Given the description of an element on the screen output the (x, y) to click on. 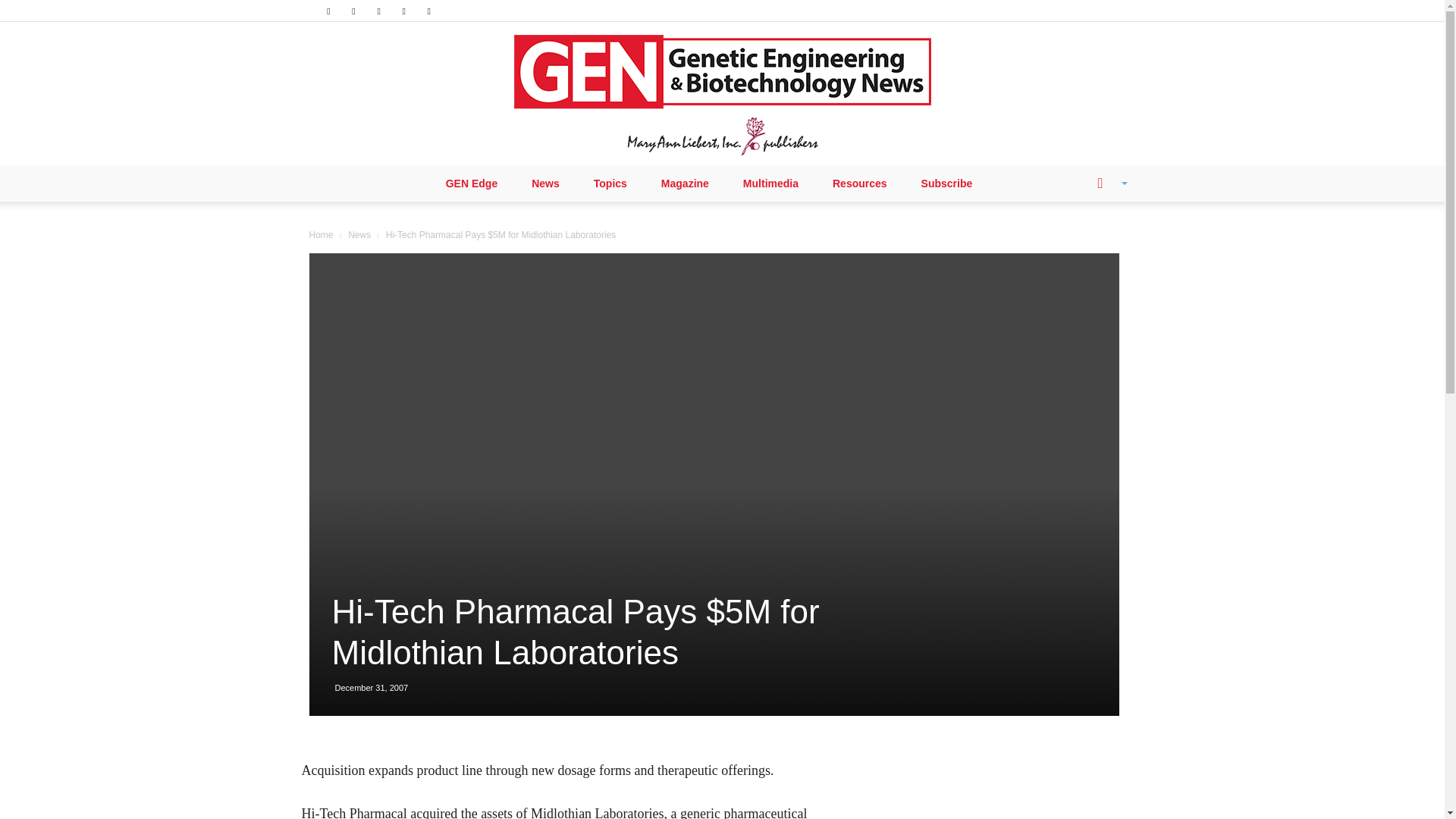
RSS (379, 10)
Linkedin (353, 10)
Facebook (328, 10)
Twitter (403, 10)
Youtube (429, 10)
View all posts in News (359, 235)
